Given the description of an element on the screen output the (x, y) to click on. 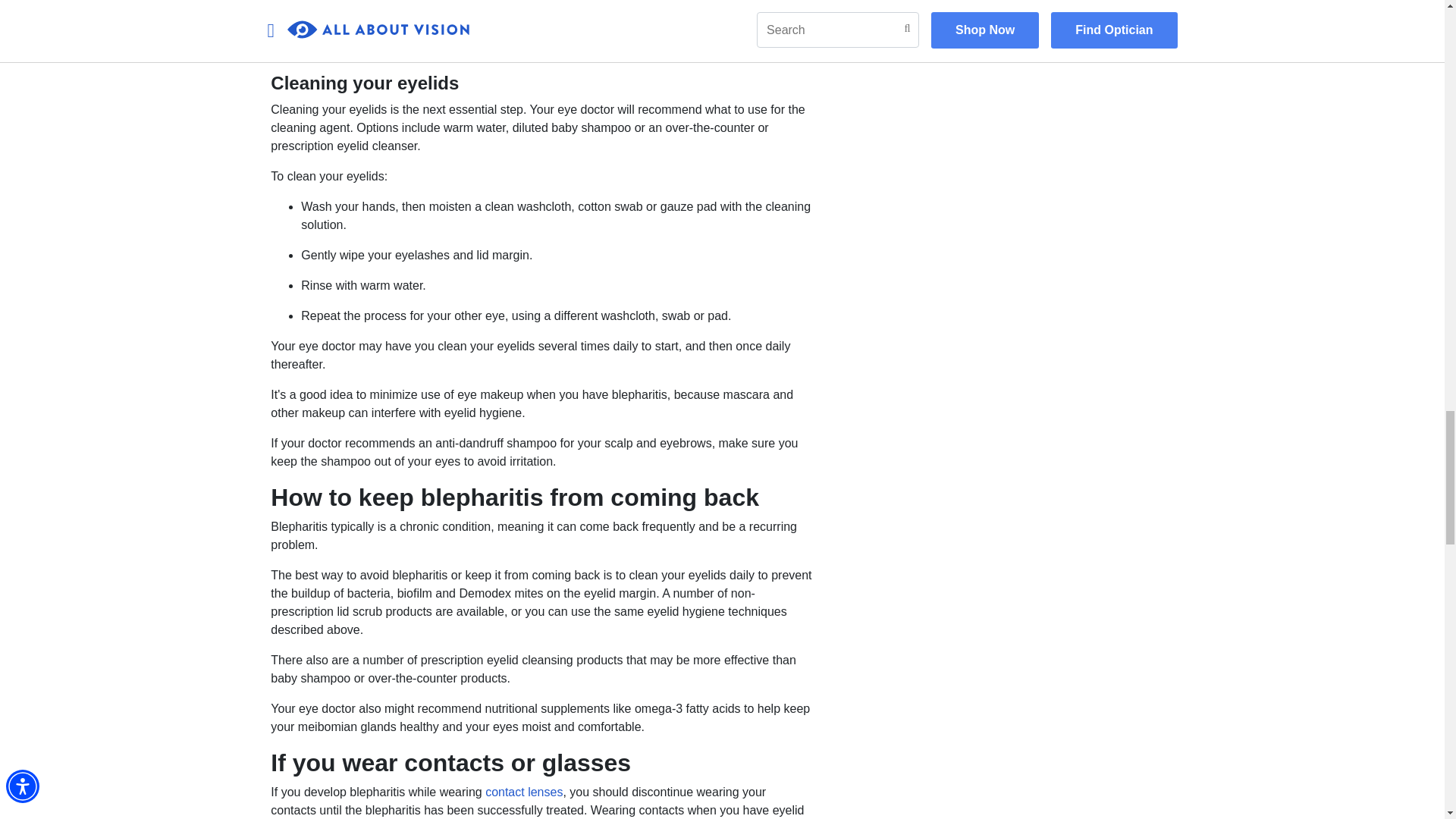
contact lenses (523, 791)
